Given the description of an element on the screen output the (x, y) to click on. 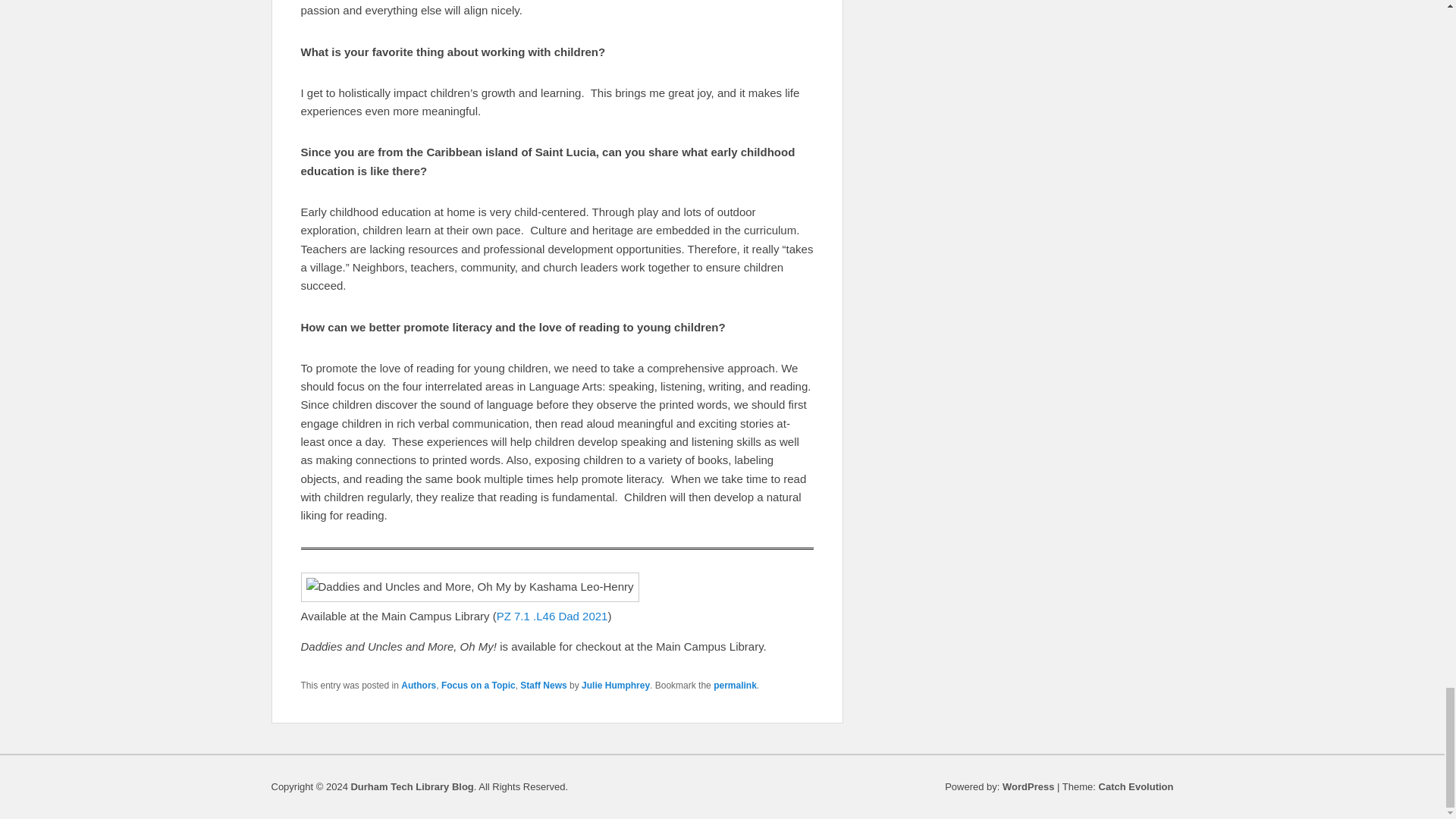
Julie Humphrey (614, 685)
Durham Tech Library Blog (411, 786)
WordPress (1028, 786)
WordPress (1028, 786)
Catch Evolution (1136, 786)
Durham Tech Library Blog (411, 786)
Catch Evolution (1136, 786)
Focus on a Topic (478, 685)
Permalink to Daddies and Uncles and Faculty Authors, Oh My! (735, 685)
Staff News (542, 685)
permalink (735, 685)
PZ 7.1 .L46 Dad 2021 (552, 615)
Authors (418, 685)
